Given the description of an element on the screen output the (x, y) to click on. 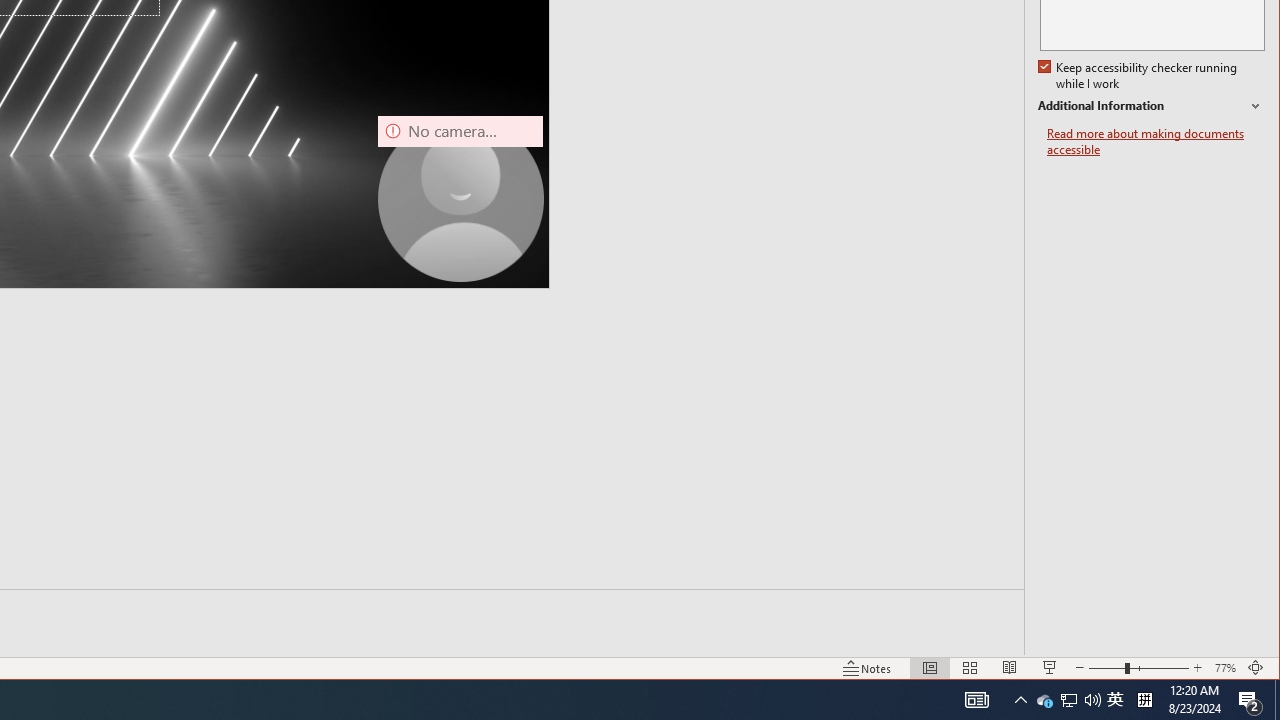
Additional Information (1151, 106)
Keep accessibility checker running while I work (1139, 76)
Zoom 77% (1225, 668)
